Given the description of an element on the screen output the (x, y) to click on. 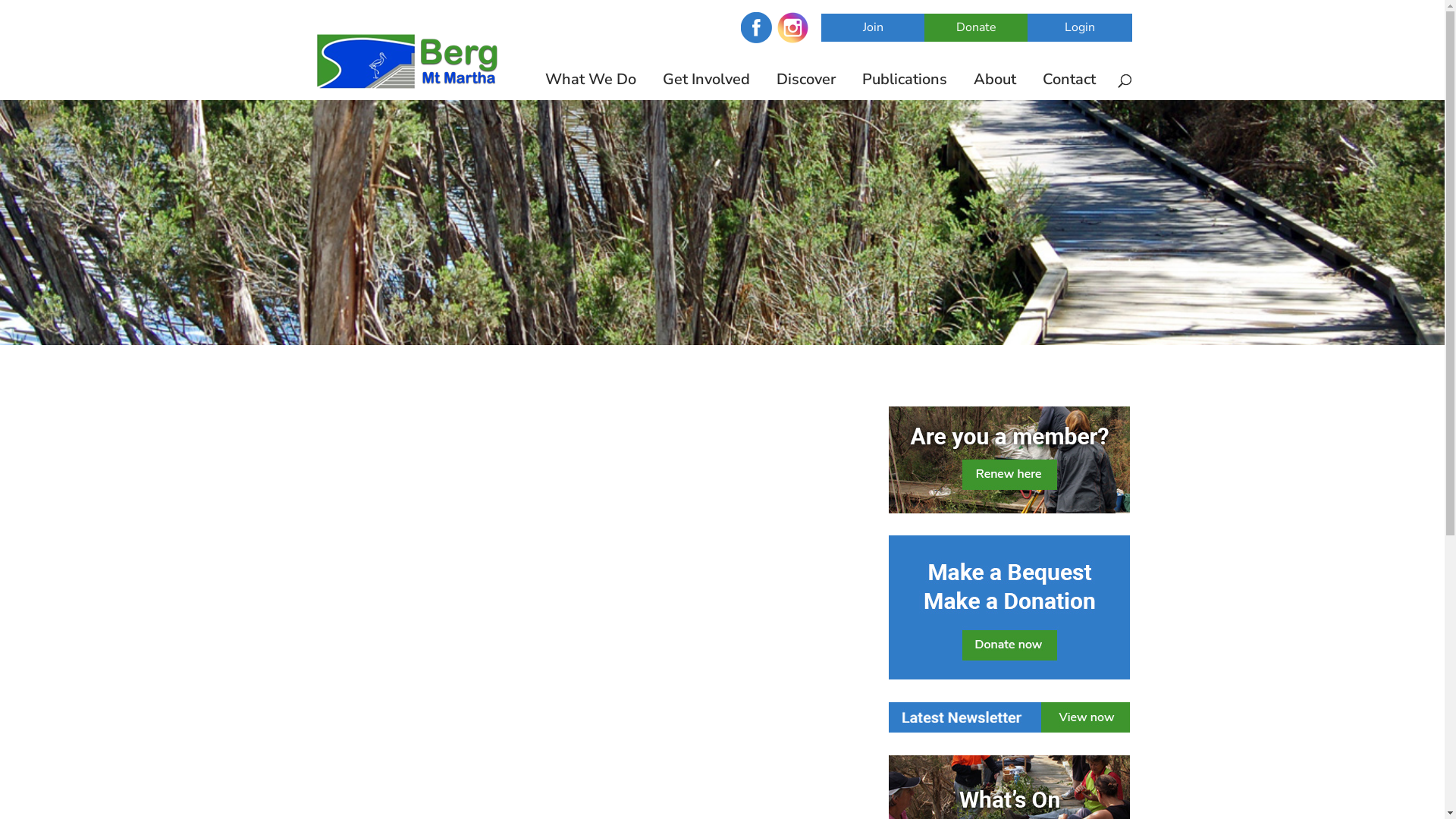
rc-join-berg Element type: hover (1008, 459)
Join Element type: text (872, 27)
Publications Element type: text (906, 87)
Contact Element type: text (1071, 87)
Login Element type: text (1078, 27)
What We Do Element type: text (592, 87)
About Element type: text (997, 87)
Discover Element type: text (808, 87)
Donate Element type: text (975, 27)
rc-make-a-bequest-donation Element type: hover (1008, 607)
latest-news-1 Element type: hover (1008, 717)
Get Involved Element type: text (709, 87)
